Given the description of an element on the screen output the (x, y) to click on. 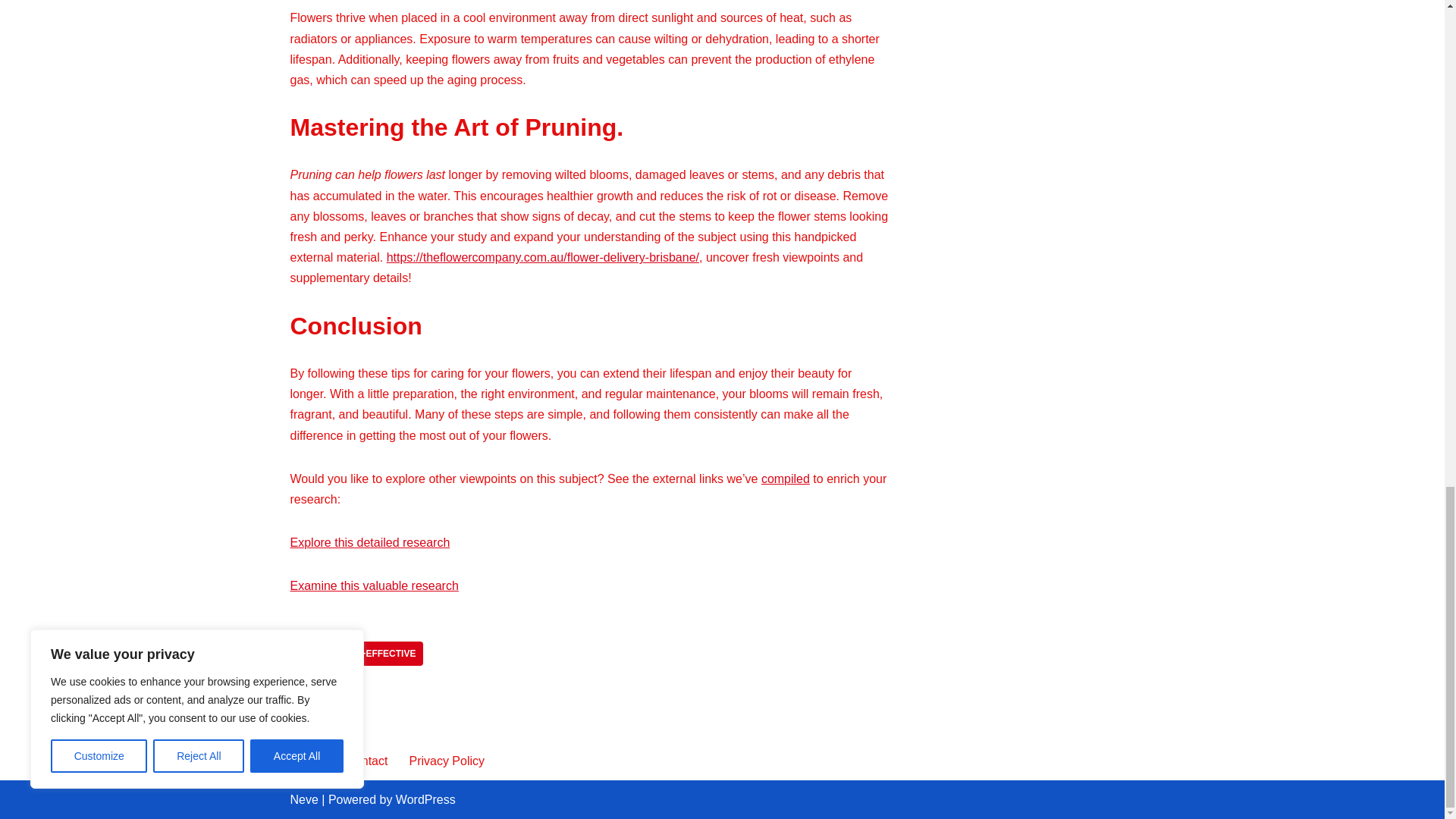
Examine this valuable research (373, 585)
compiled (785, 478)
Explore this detailed research (369, 542)
